Given the description of an element on the screen output the (x, y) to click on. 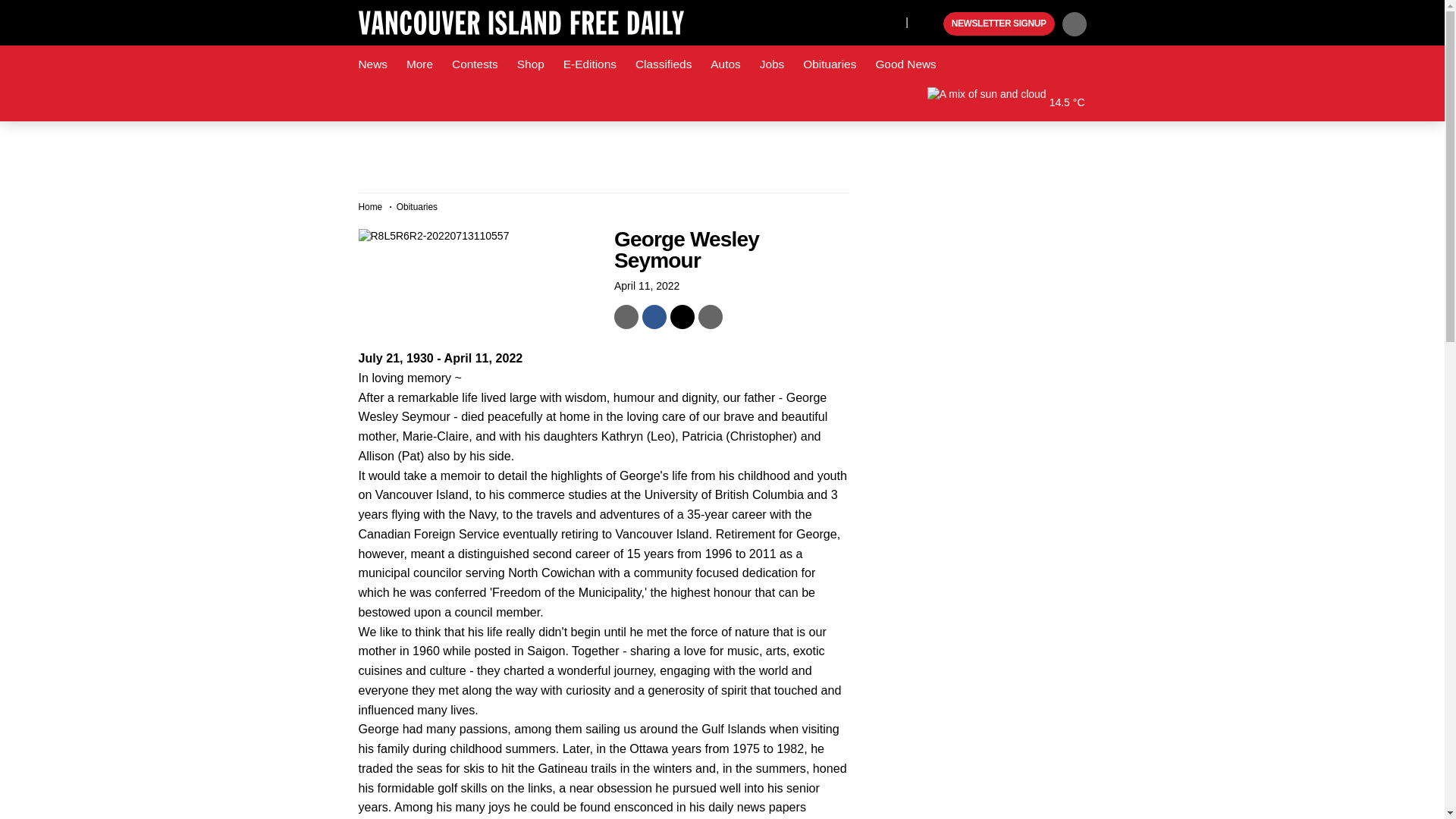
Instagram (889, 21)
Black Press Media (929, 24)
NEWSLETTER SIGNUP (998, 24)
X (853, 21)
Facebook (823, 21)
Play (929, 24)
News (372, 64)
